Given the description of an element on the screen output the (x, y) to click on. 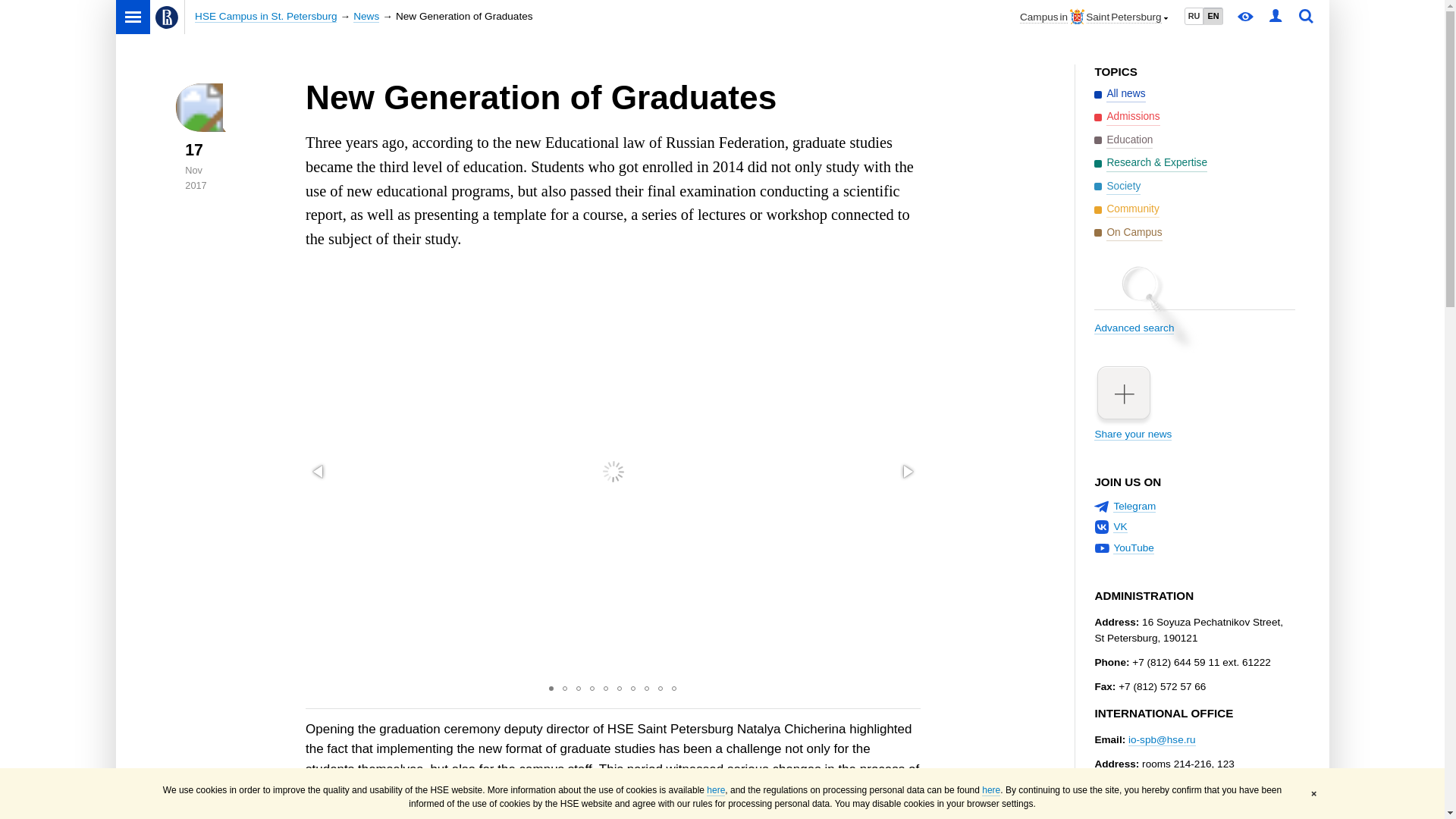
Education (1123, 139)
All news (1119, 93)
RU (1194, 16)
VK (1119, 526)
HSE Campus in St. Petersburg (265, 16)
here (990, 790)
Society (1117, 186)
On Campus (1127, 232)
here (715, 790)
Search (1306, 17)
Telegram (1134, 506)
Share your news (1194, 402)
Admissions (1126, 116)
For visually-impaired (1245, 17)
Advanced search (1194, 314)
